Given the description of an element on the screen output the (x, y) to click on. 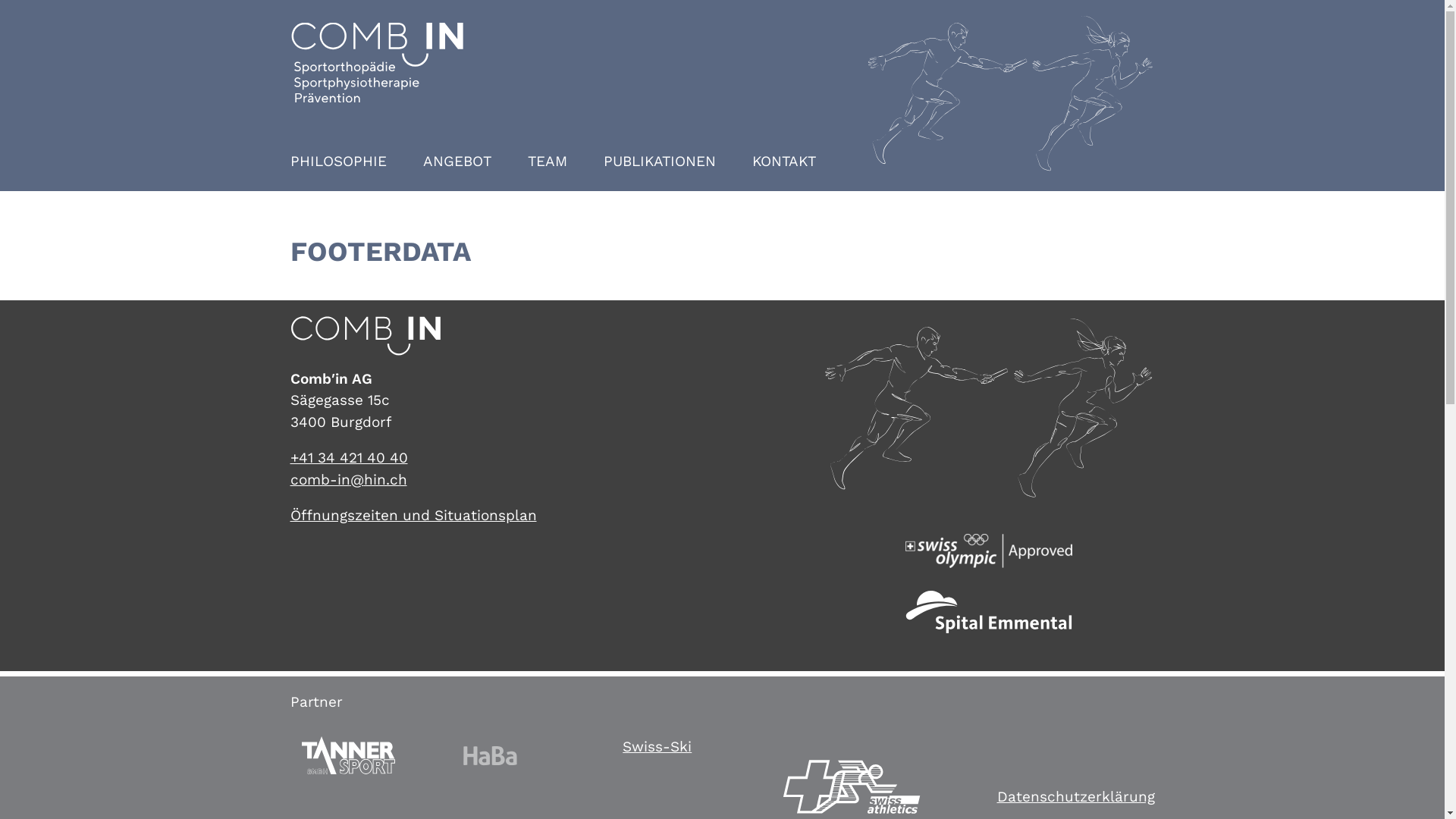
Swiss-Ski Element type: text (656, 746)
ANGEBOT Element type: text (456, 161)
PHILOSOPHIE Element type: text (346, 161)
PUBLIKATIONEN Element type: text (659, 161)
TEAM Element type: text (547, 161)
KONTAKT Element type: text (784, 161)
+41 34 421 40 40 Element type: text (348, 457)
COMB IN Element type: hover (376, 62)
comb-inhin.ch Element type: text (347, 479)
